Given the description of an element on the screen output the (x, y) to click on. 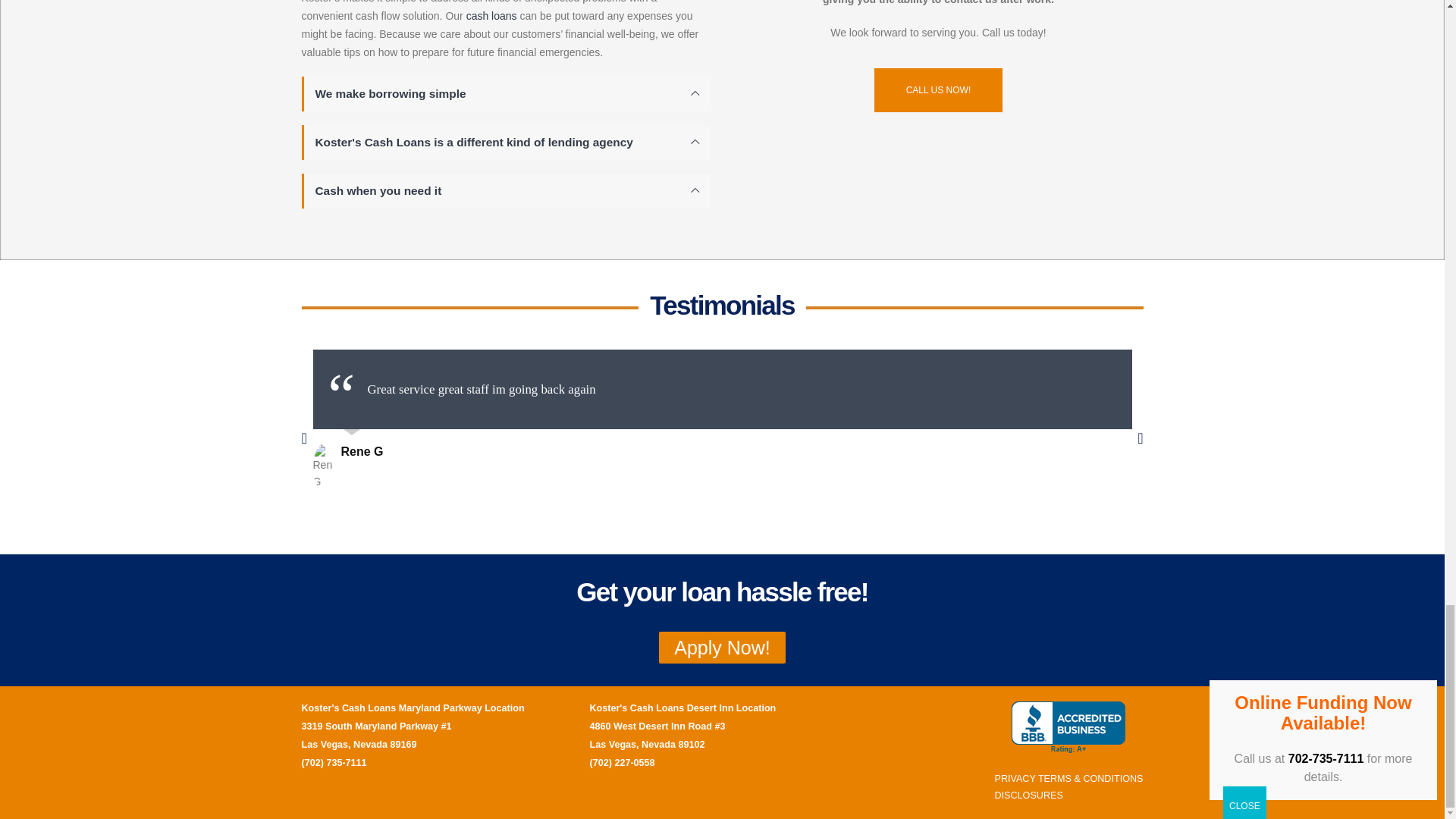
Koster's Cash Loans Maryland Parkway Location (412, 707)
CALL US NOW! (939, 89)
Rene G (362, 451)
DISCLOSURES (1028, 795)
Koster's Cash Loans Desert Inn Location (682, 707)
Apply Now! (721, 647)
cash loans (490, 15)
